Given the description of an element on the screen output the (x, y) to click on. 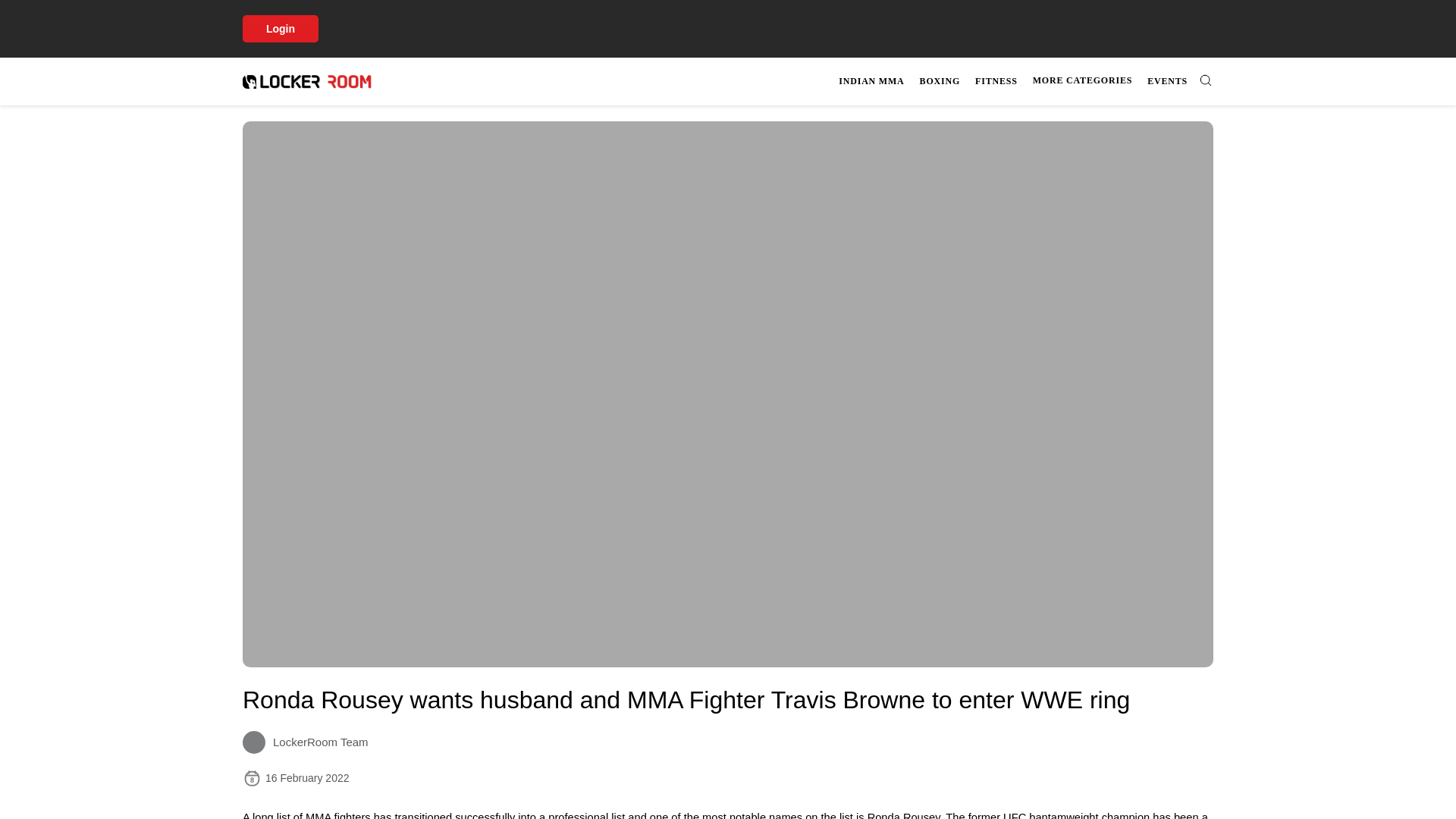
INDIAN MMA (871, 81)
MORE CATEGORIES (1082, 80)
EVENTS (1023, 81)
FITNESS (1167, 81)
BOXING (996, 81)
